Given the description of an element on the screen output the (x, y) to click on. 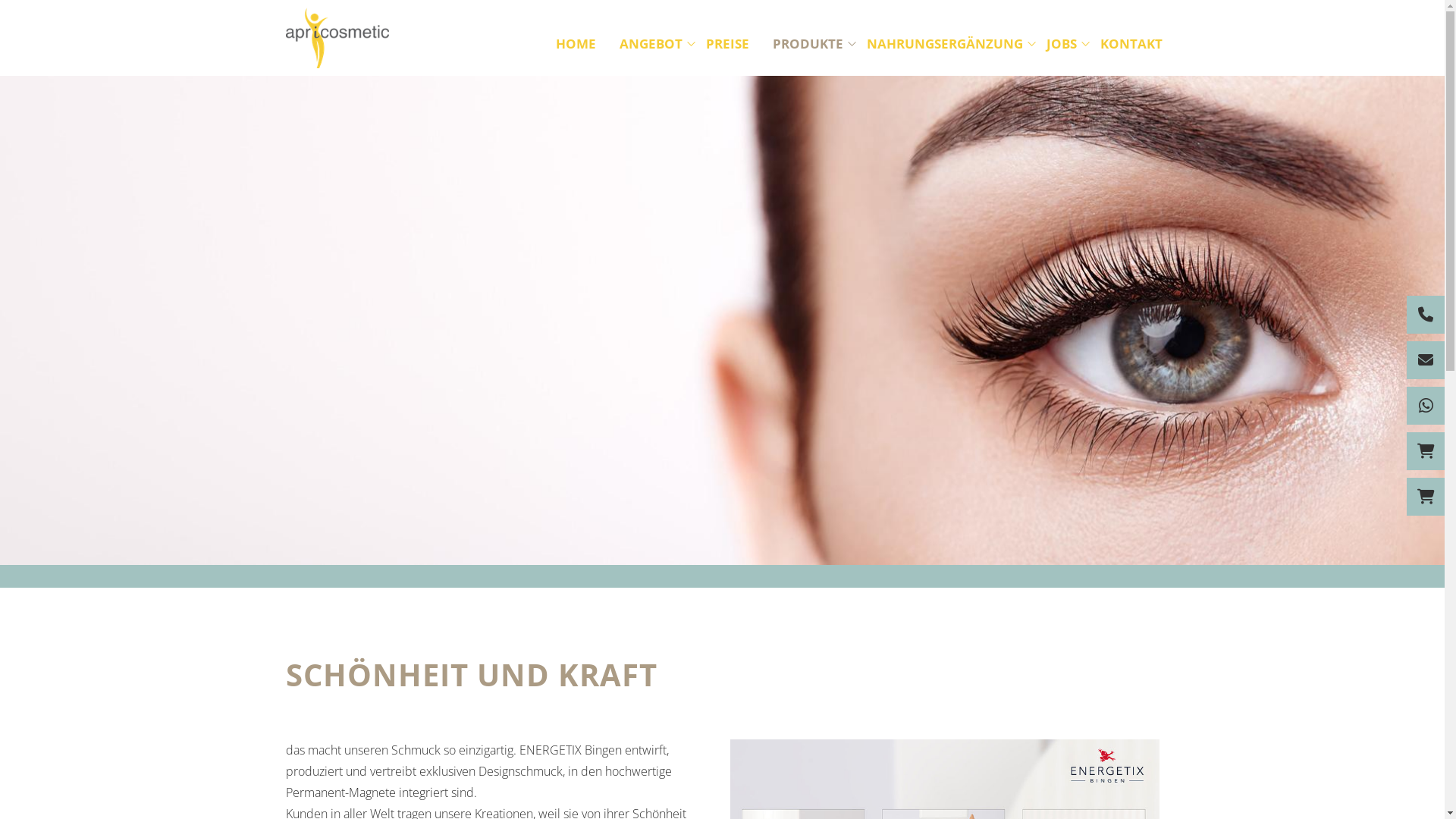
PRODUKTE Element type: text (806, 43)
HOME Element type: text (575, 43)
ANGEBOT Element type: text (649, 43)
PREISE Element type: text (726, 43)
KONTAKT Element type: text (1130, 43)
JOBS Element type: text (1061, 43)
